Given the description of an element on the screen output the (x, y) to click on. 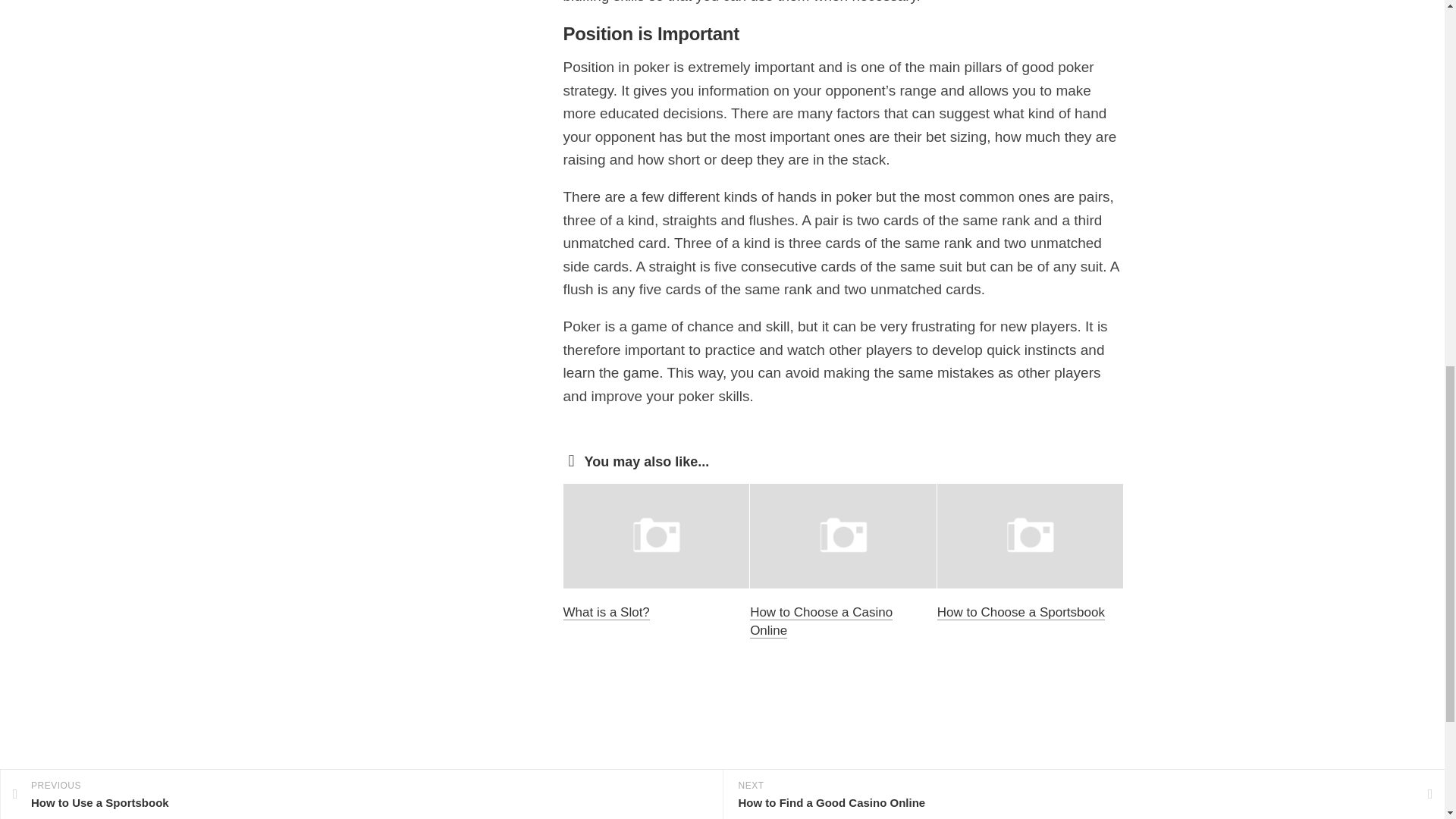
How to Choose a Casino Online (820, 621)
What is a Slot? (605, 612)
How to Choose a Sportsbook (1021, 612)
